Given the description of an element on the screen output the (x, y) to click on. 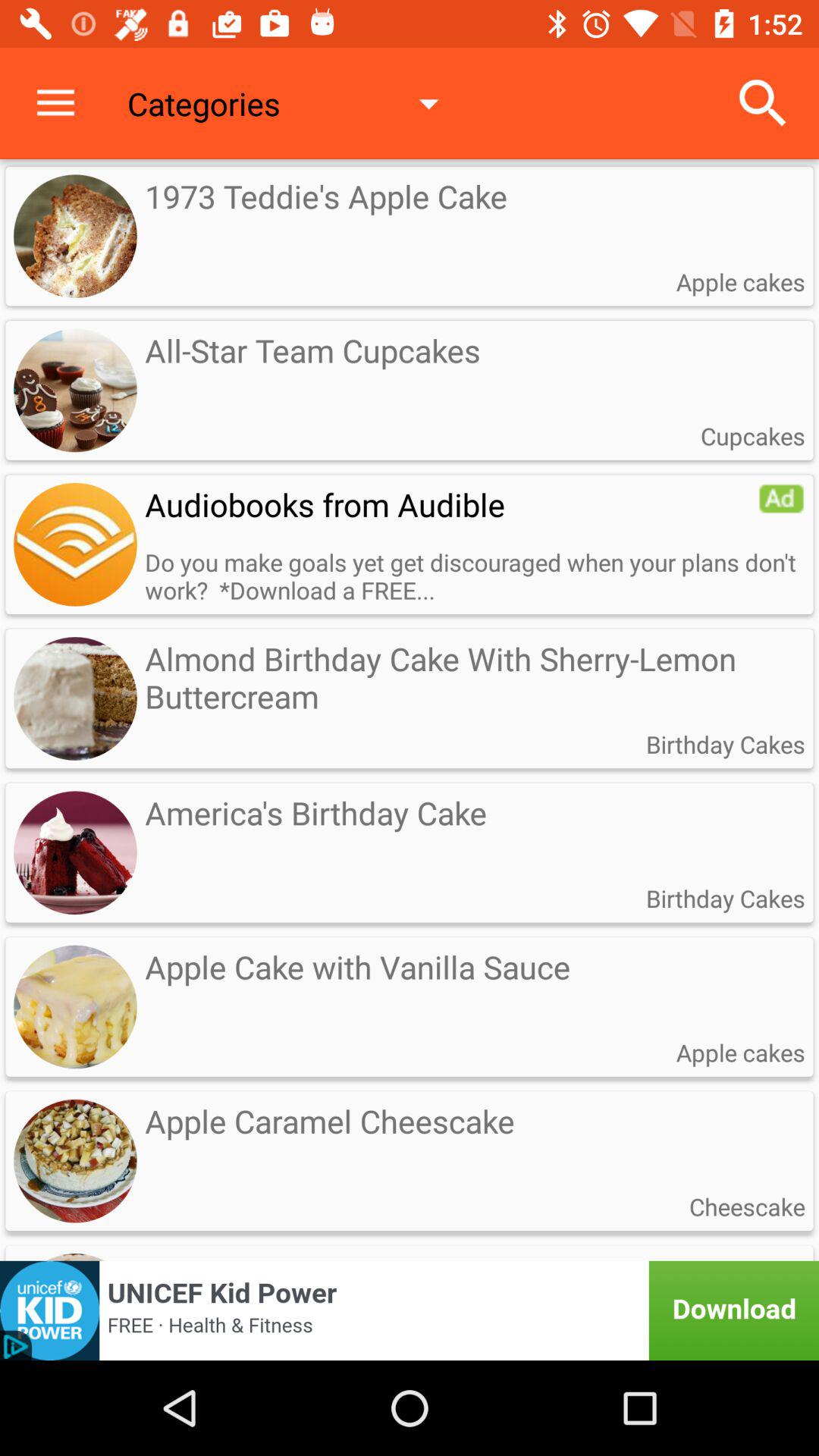
flip to the audiobooks from audible icon (451, 504)
